Given the description of an element on the screen output the (x, y) to click on. 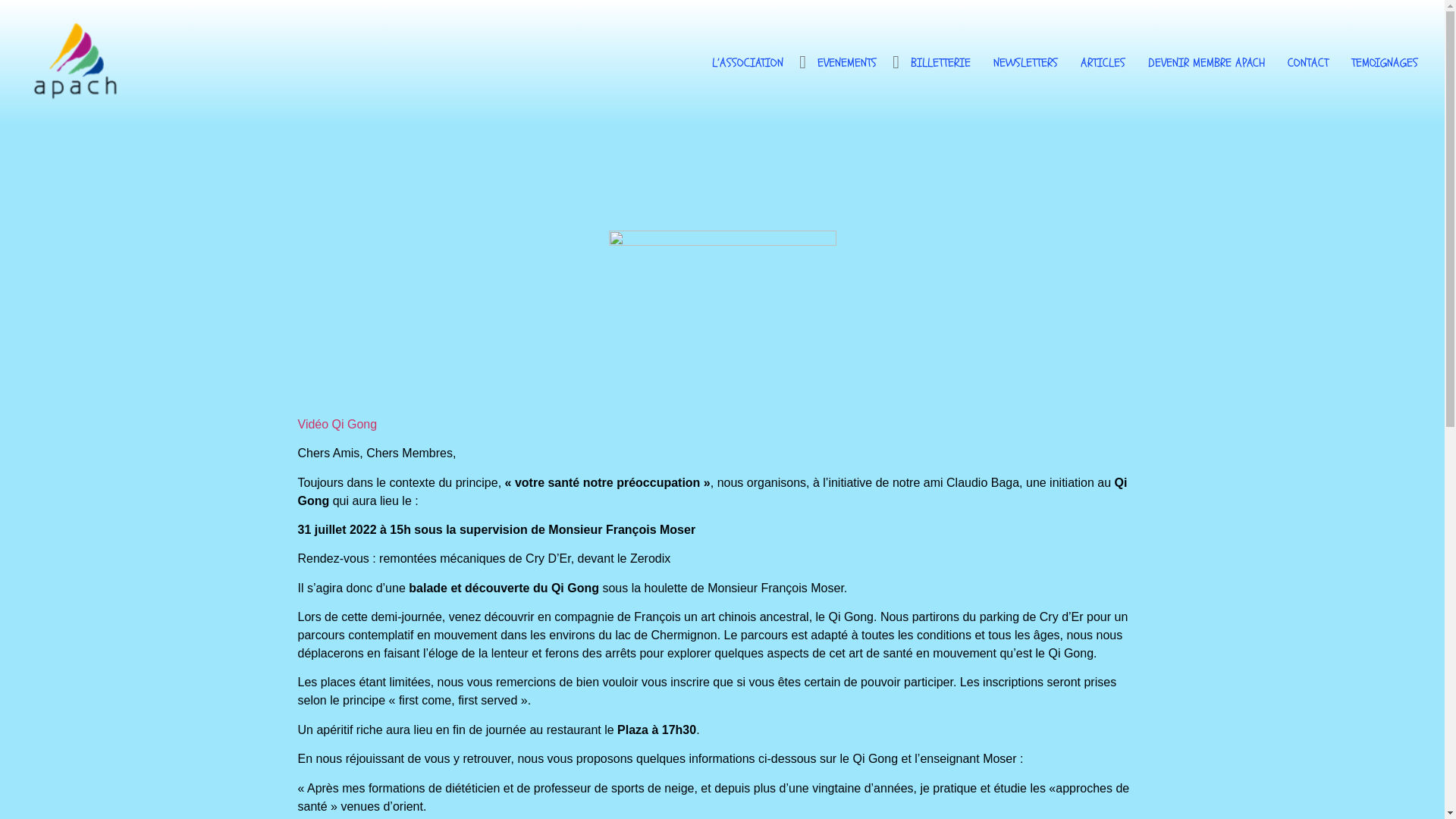
EVENEMENTS Element type: text (847, 62)
CONTACT Element type: text (1307, 62)
DEVENIR MEMBRE APACH Element type: text (1206, 62)
NEWSLETTERS Element type: text (1025, 62)
ARTICLES Element type: text (1102, 62)
BILLETTERIE Element type: text (940, 62)
TEMOIGNAGES Element type: text (1384, 62)
Screenshot 2022-06-11 at 17.52.46 Element type: hover (721, 317)
